Given the description of an element on the screen output the (x, y) to click on. 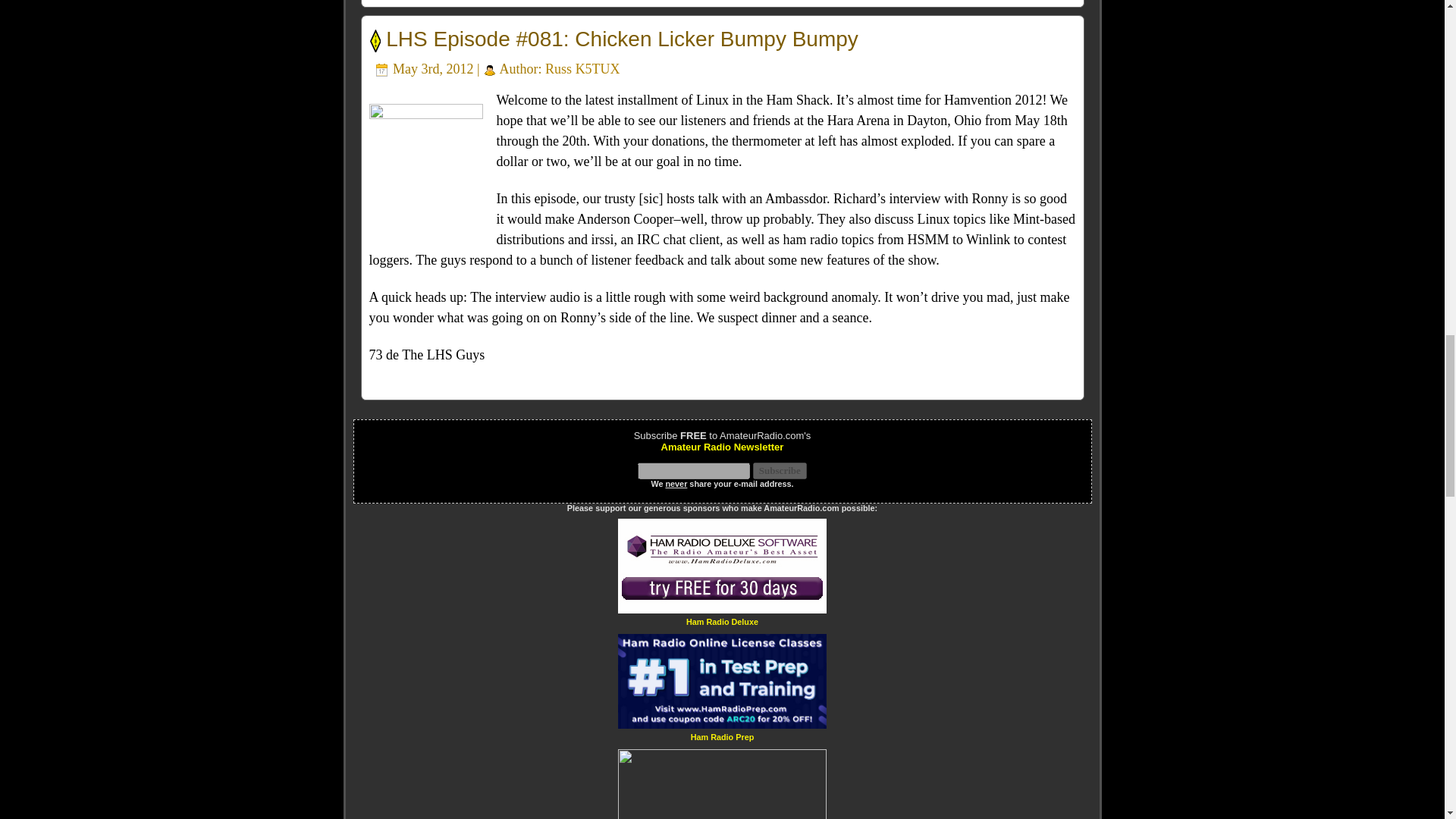
chicken-licker (424, 160)
Subscribe (779, 470)
Posts by Russ K5TUX (582, 68)
Ham Radio Prep (722, 736)
Russ K5TUX (582, 68)
Ham Radio Deluxe (721, 621)
Subscribe (779, 470)
